Given the description of an element on the screen output the (x, y) to click on. 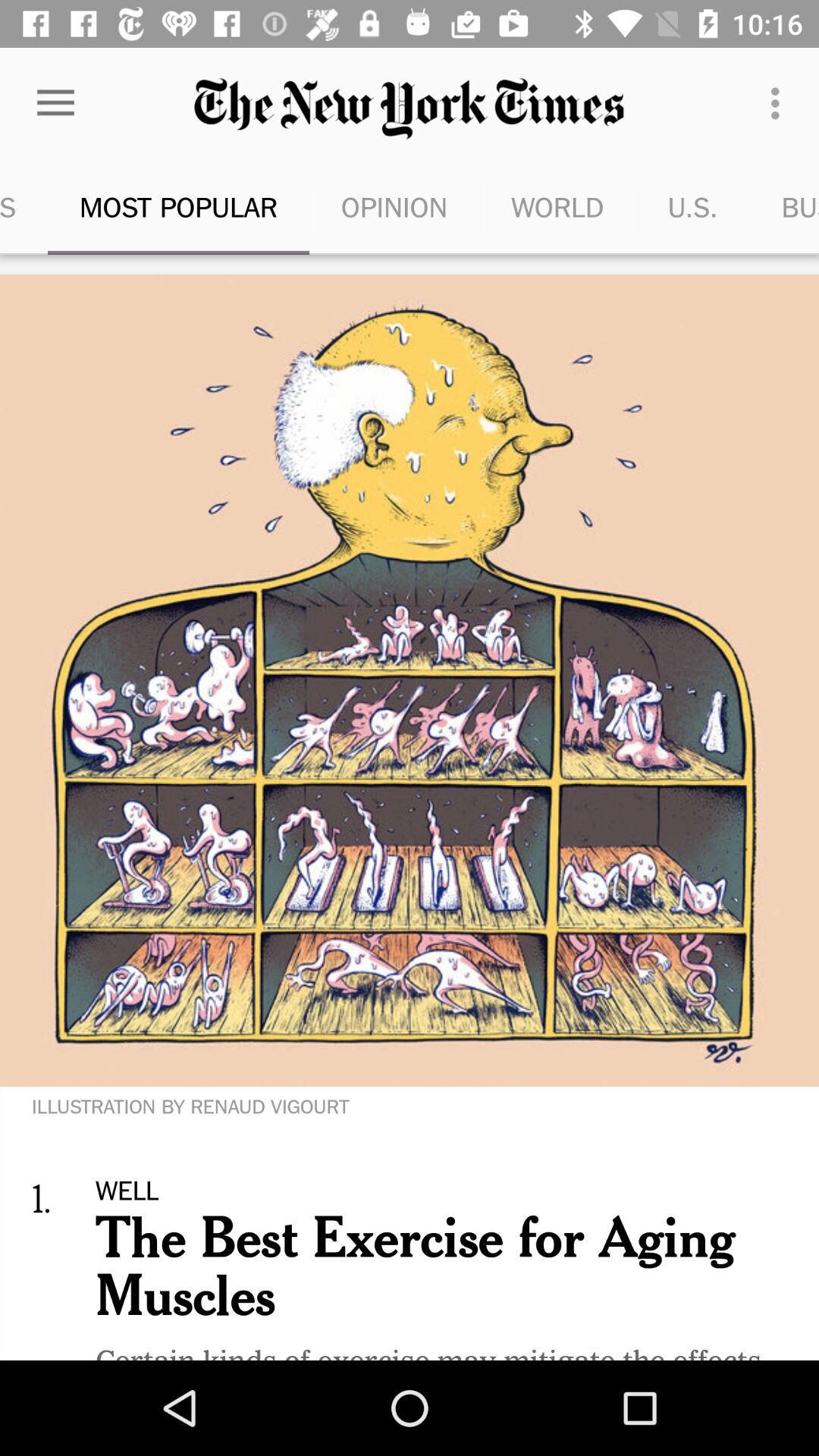
press item to the right of the u.s. icon (784, 206)
